Given the description of an element on the screen output the (x, y) to click on. 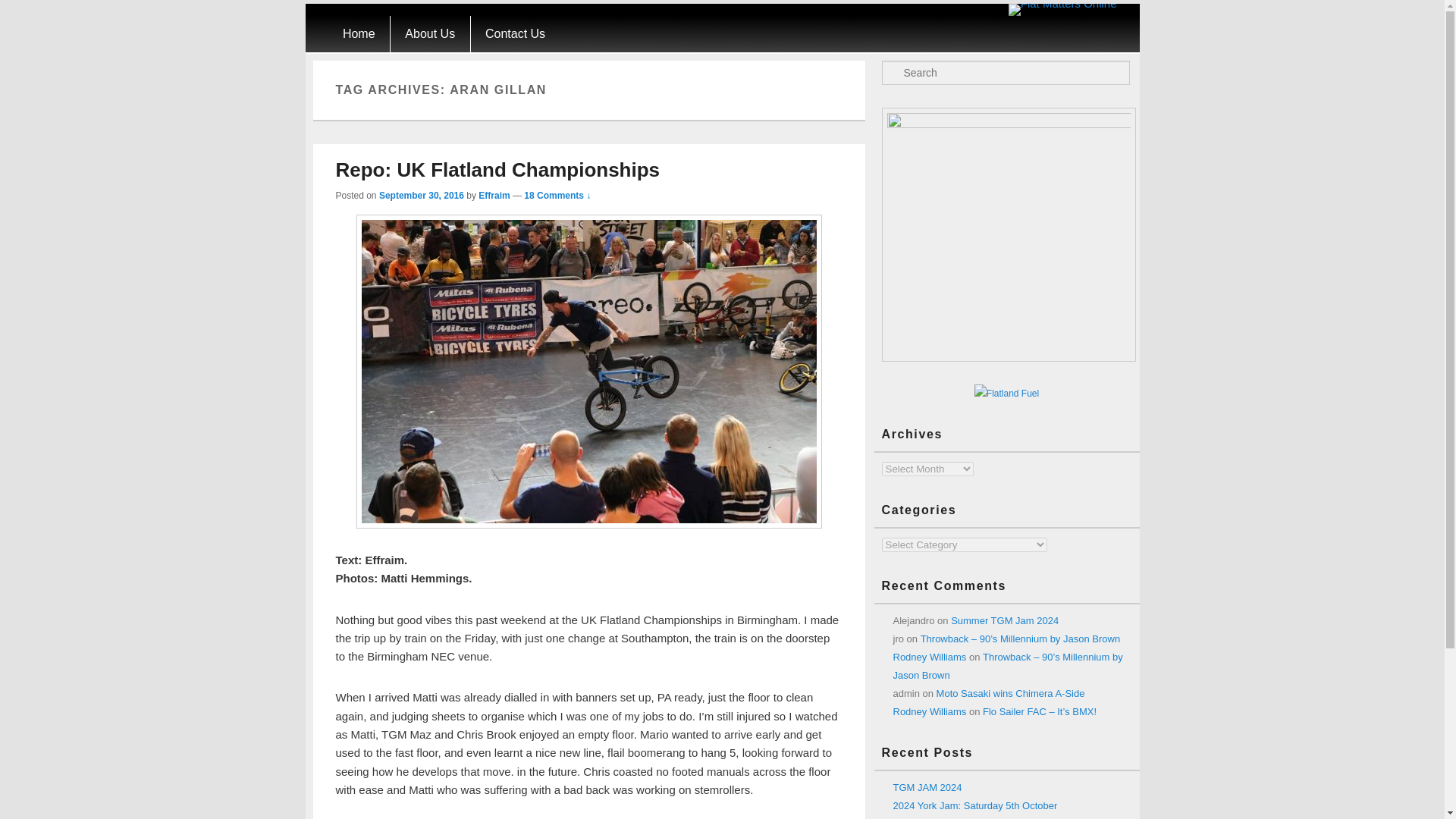
Effraim (494, 195)
Flat Matters Online (1057, 49)
Skip to primary content (385, 24)
September 30, 2016 (421, 195)
Home (357, 33)
Contact Us (515, 33)
Skip to secondary content (392, 24)
Skip to secondary content (392, 24)
Summer TGM Jam 2024 (1004, 620)
Skip to primary content (385, 24)
About Us (430, 33)
Repo: UK Flatland Championships (496, 169)
8:12 am (421, 195)
Search (21, 11)
Flat Matters Online (1062, 4)
